Given the description of an element on the screen output the (x, y) to click on. 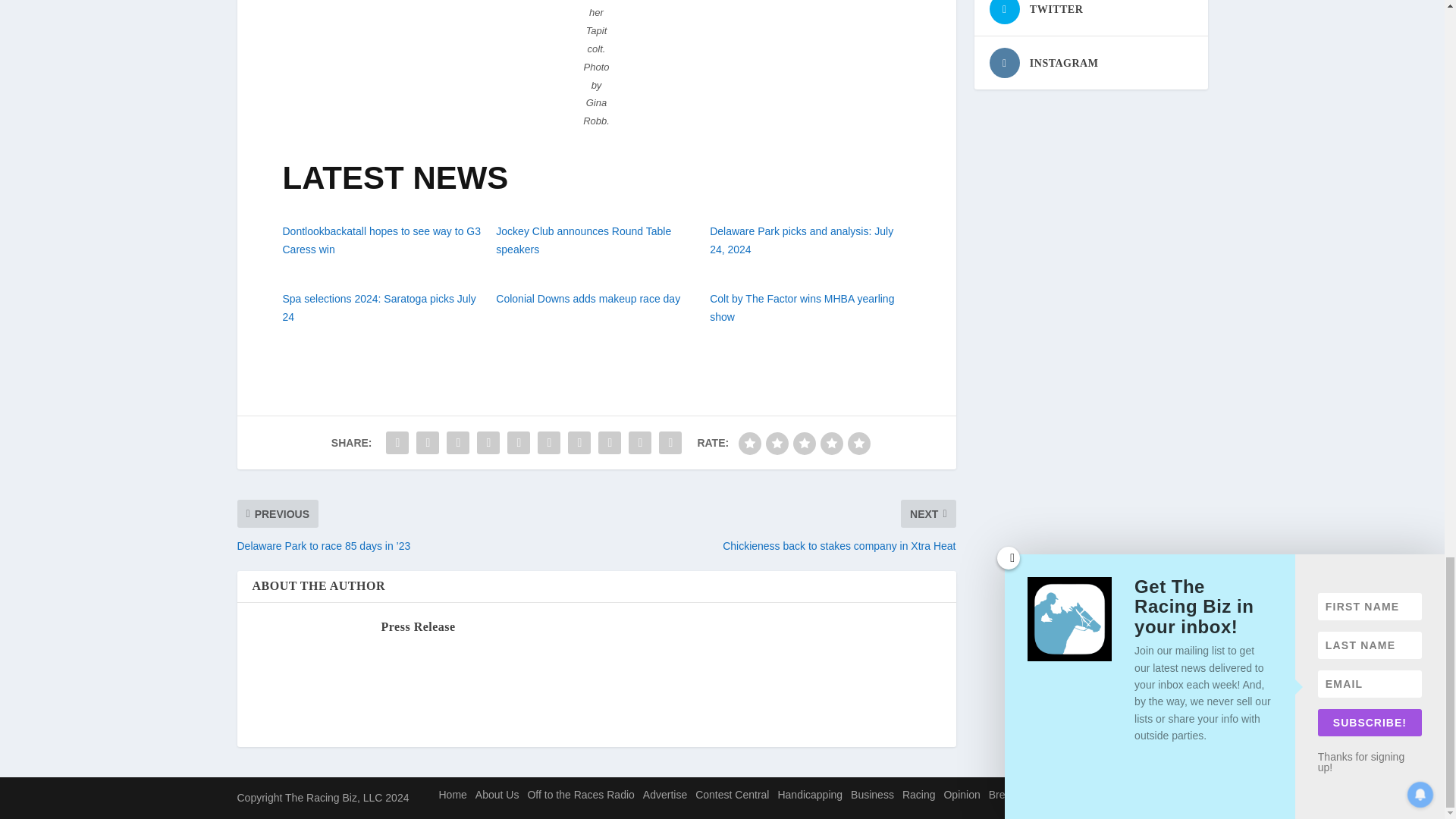
Dontlookbackatall hopes to see way to G3 Caress win (381, 240)
